Given the description of an element on the screen output the (x, y) to click on. 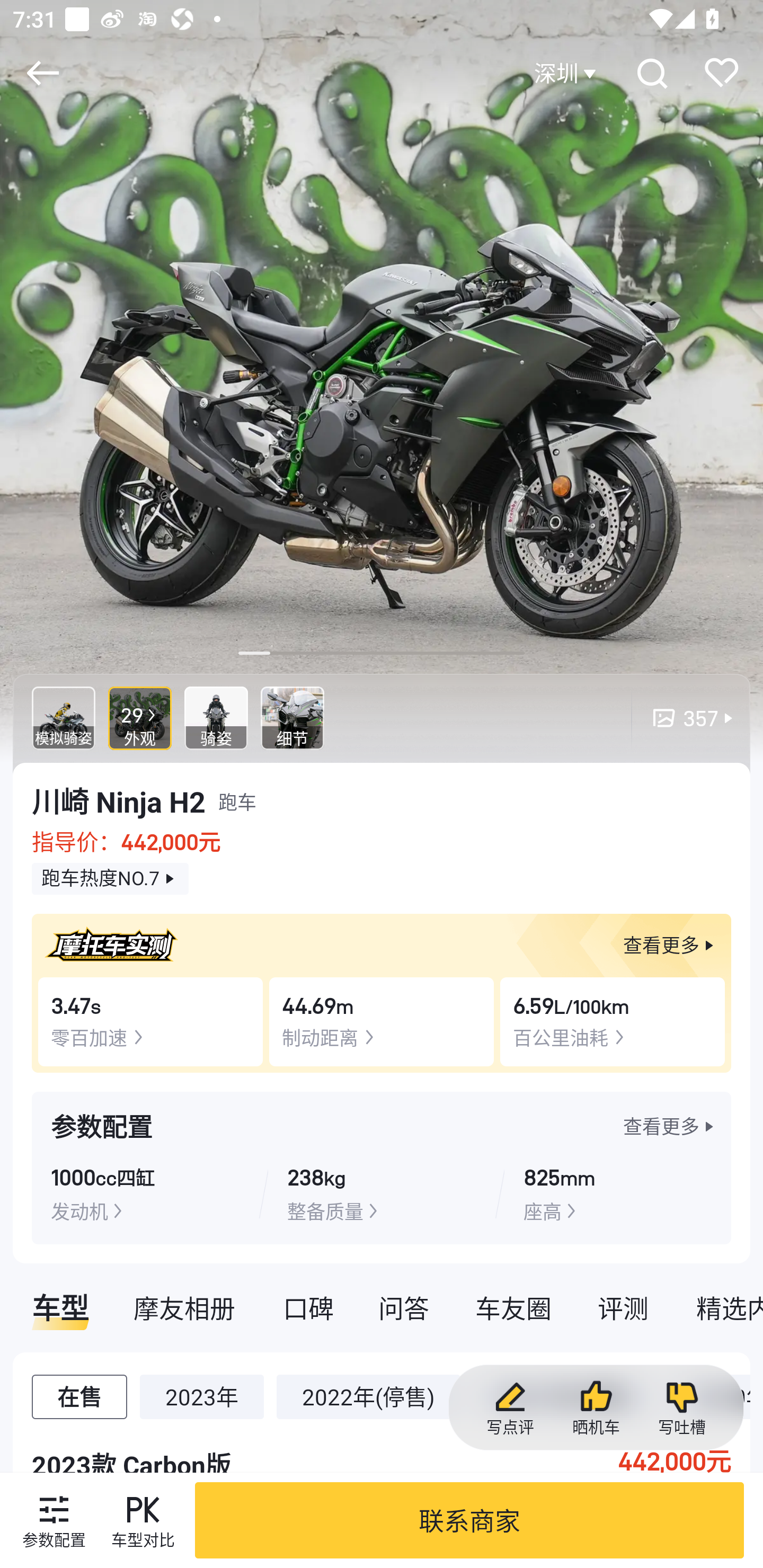
 (42, 72)
 (651, 72)
深圳 (567, 73)
模拟骑姿 (63, 717)
29  外观 (139, 717)
骑姿 (215, 717)
细节 (292, 717)
 357  (684, 717)
跑车热度NO.7  (110, 878)
3.47s 零百加速  (150, 1021)
44.69m 制动距离  (381, 1021)
6.59L/100km 百公里油耗  (612, 1021)
查看更多 (670, 1126)
1000cc四缸 发动机  (144, 1192)
238kg 整备质量  (380, 1192)
825mm 座高  (617, 1192)
摩友相册 (184, 1307)
口碑 (308, 1307)
问答 (403, 1307)
车友圈 (513, 1307)
评测 (622, 1307)
在售 (79, 1397)
2023年 (201, 1397)
2022年(停售) (368, 1397)
写点评 (510, 1407)
晒机车 (595, 1407)
写吐槽 (681, 1407)
参数配置 (53, 1520)
车型对比 (142, 1520)
联系商家 (469, 1519)
